Given the description of an element on the screen output the (x, y) to click on. 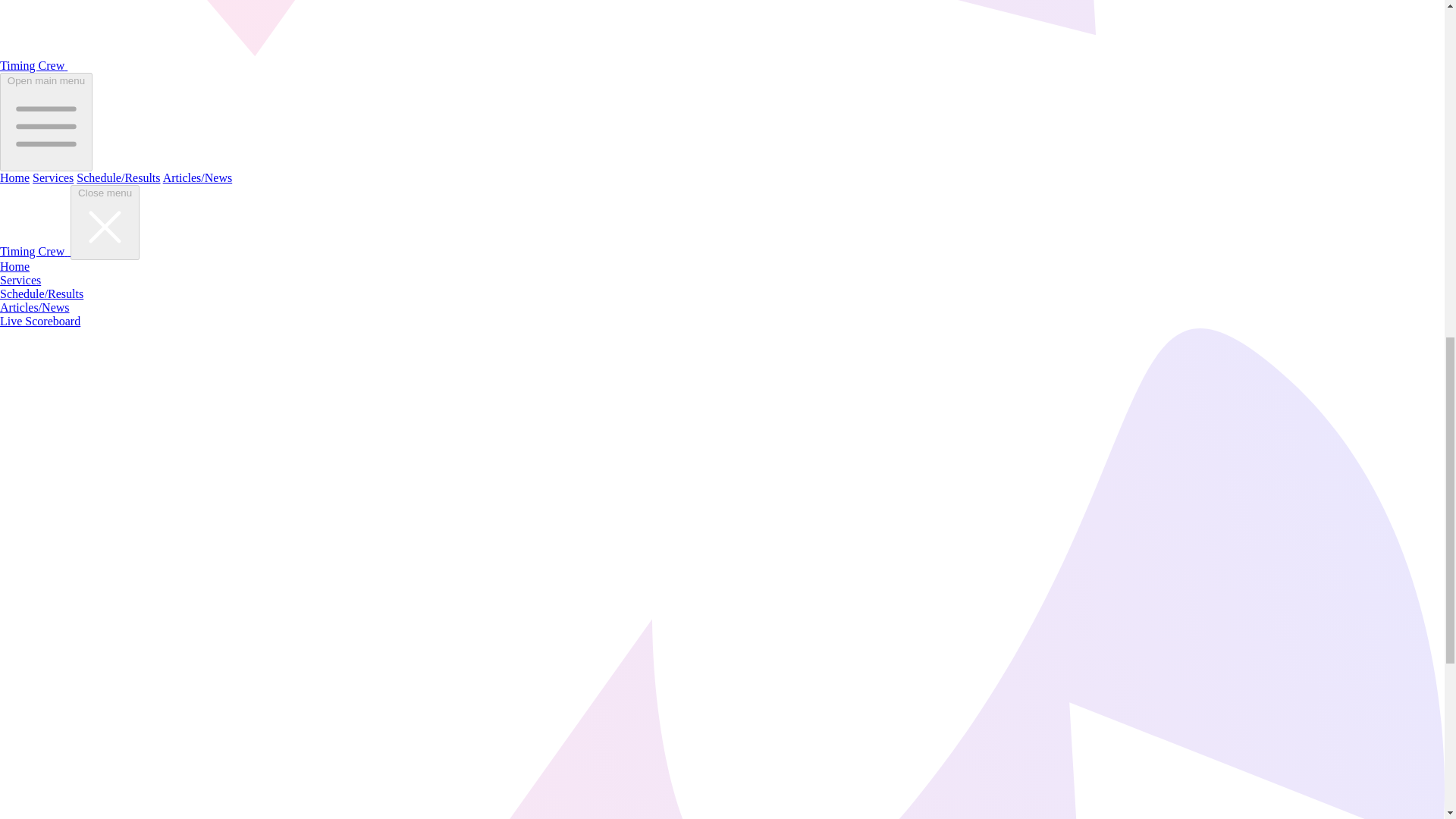
Home (14, 177)
Timing Crew (33, 65)
Live Scoreboard (40, 320)
Services (53, 177)
Open main menu (46, 121)
Timing Crew (34, 250)
Services (20, 279)
Close menu (104, 222)
Home (14, 266)
